Given the description of an element on the screen output the (x, y) to click on. 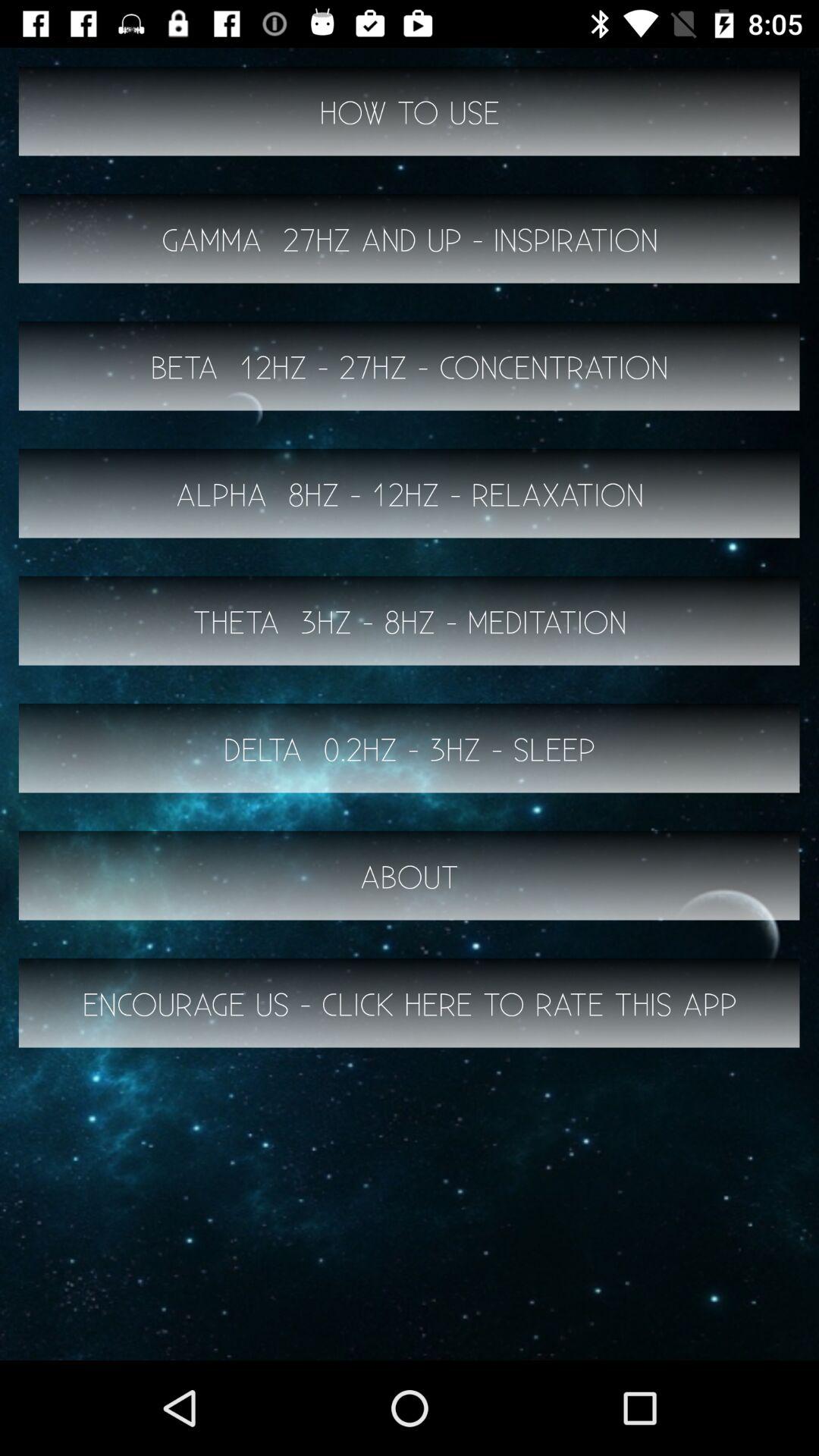
swipe to the how to use (409, 111)
